Given the description of an element on the screen output the (x, y) to click on. 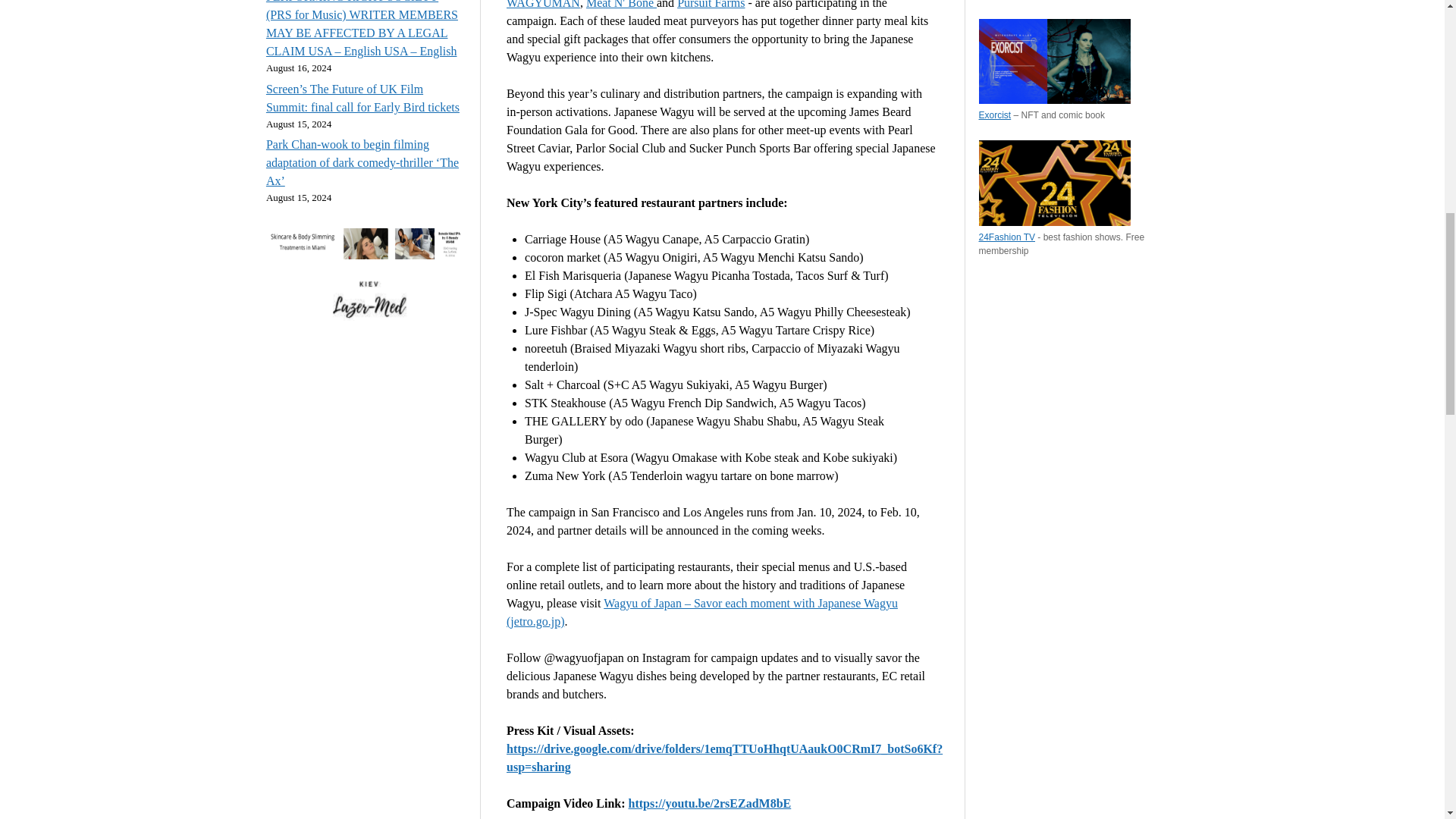
Pursuit Farms (710, 4)
WAGYUMAN (542, 4)
Meat N' Bone (621, 4)
